Given the description of an element on the screen output the (x, y) to click on. 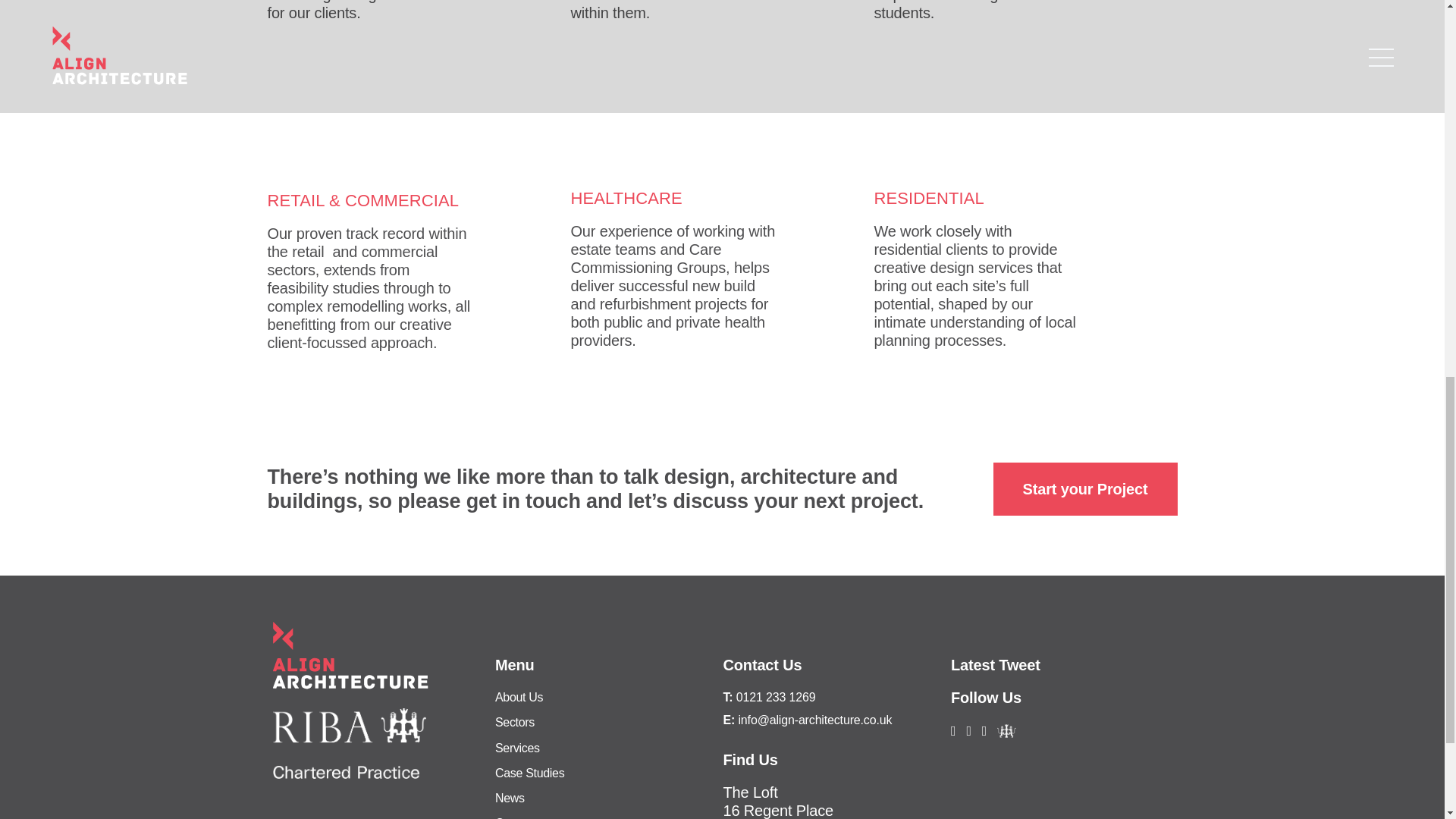
Case Studies (529, 772)
0121 233 1269 (775, 697)
Sectors (514, 721)
Services (517, 748)
Contact (515, 817)
News (509, 797)
About Us (519, 697)
Start your Project (1084, 488)
